Given the description of an element on the screen output the (x, y) to click on. 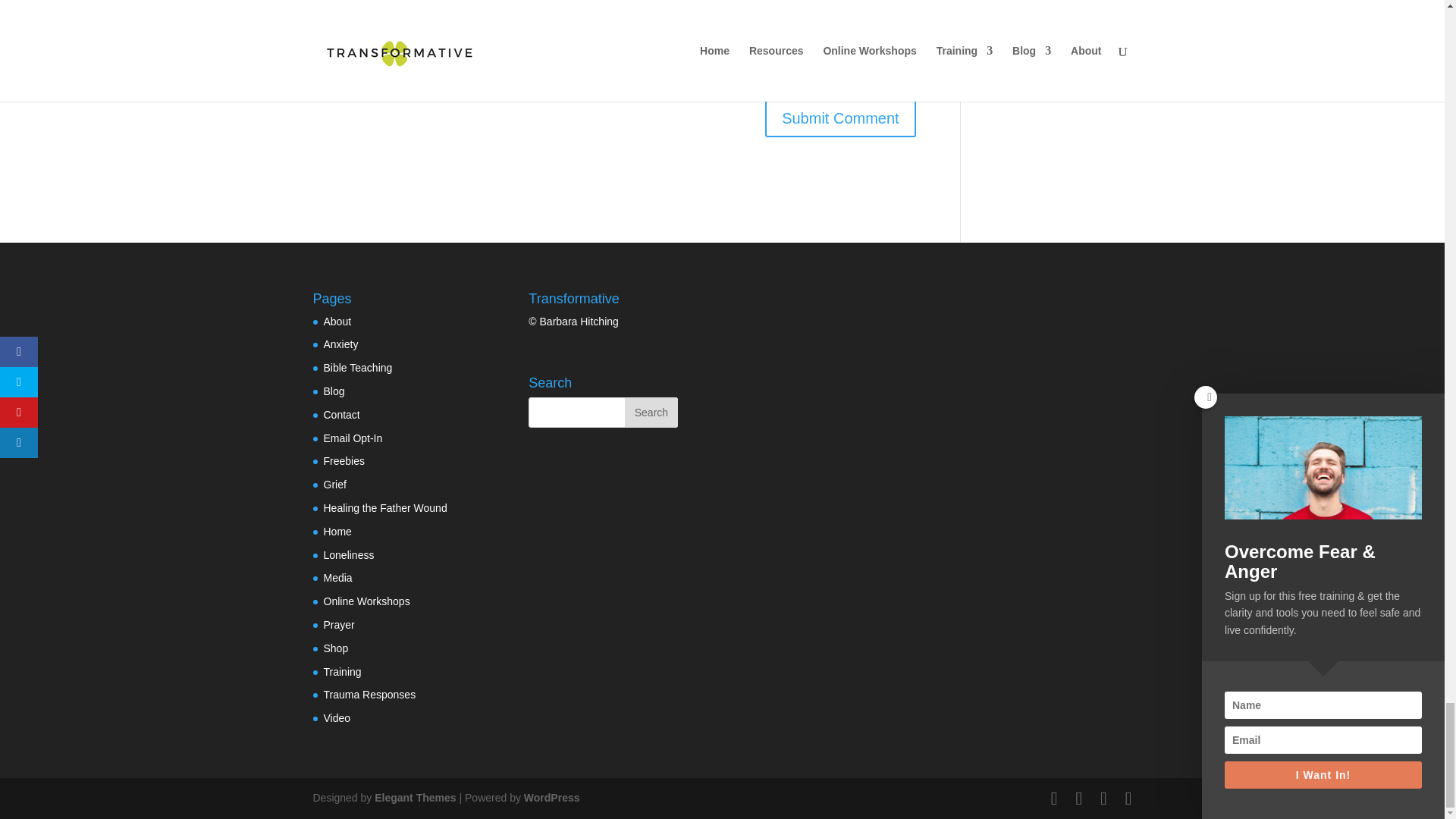
Submit Comment (840, 118)
Search (651, 412)
subscribe (319, 67)
subscribe (319, 27)
Premium WordPress Themes (414, 797)
